Given the description of an element on the screen output the (x, y) to click on. 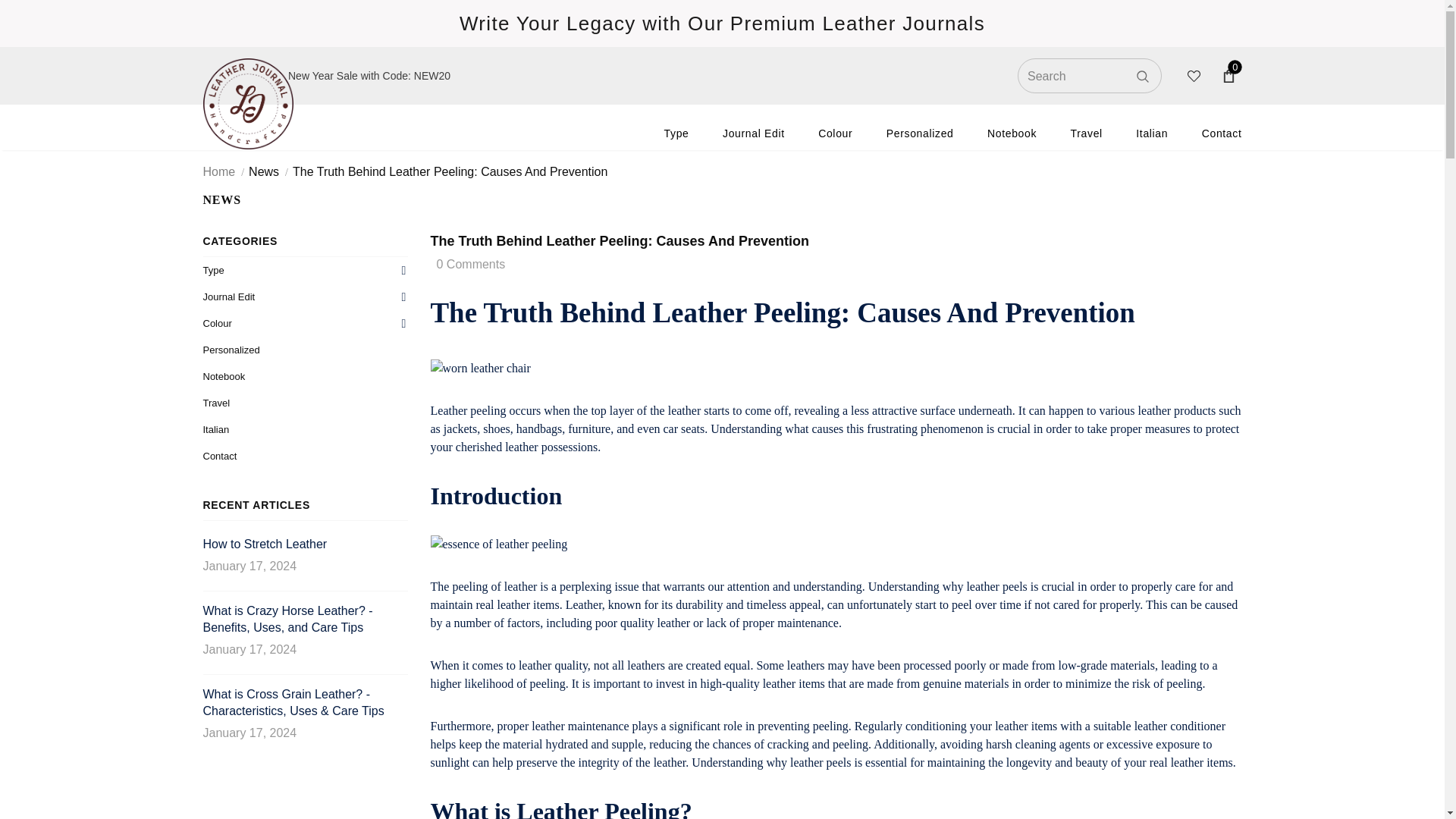
0 (1228, 75)
Contact (1221, 132)
Personalized (919, 132)
Colour (834, 132)
Travel (1086, 132)
Notebook (1011, 132)
Journal Edit (753, 132)
Italian (1151, 132)
Home (219, 171)
